Given the description of an element on the screen output the (x, y) to click on. 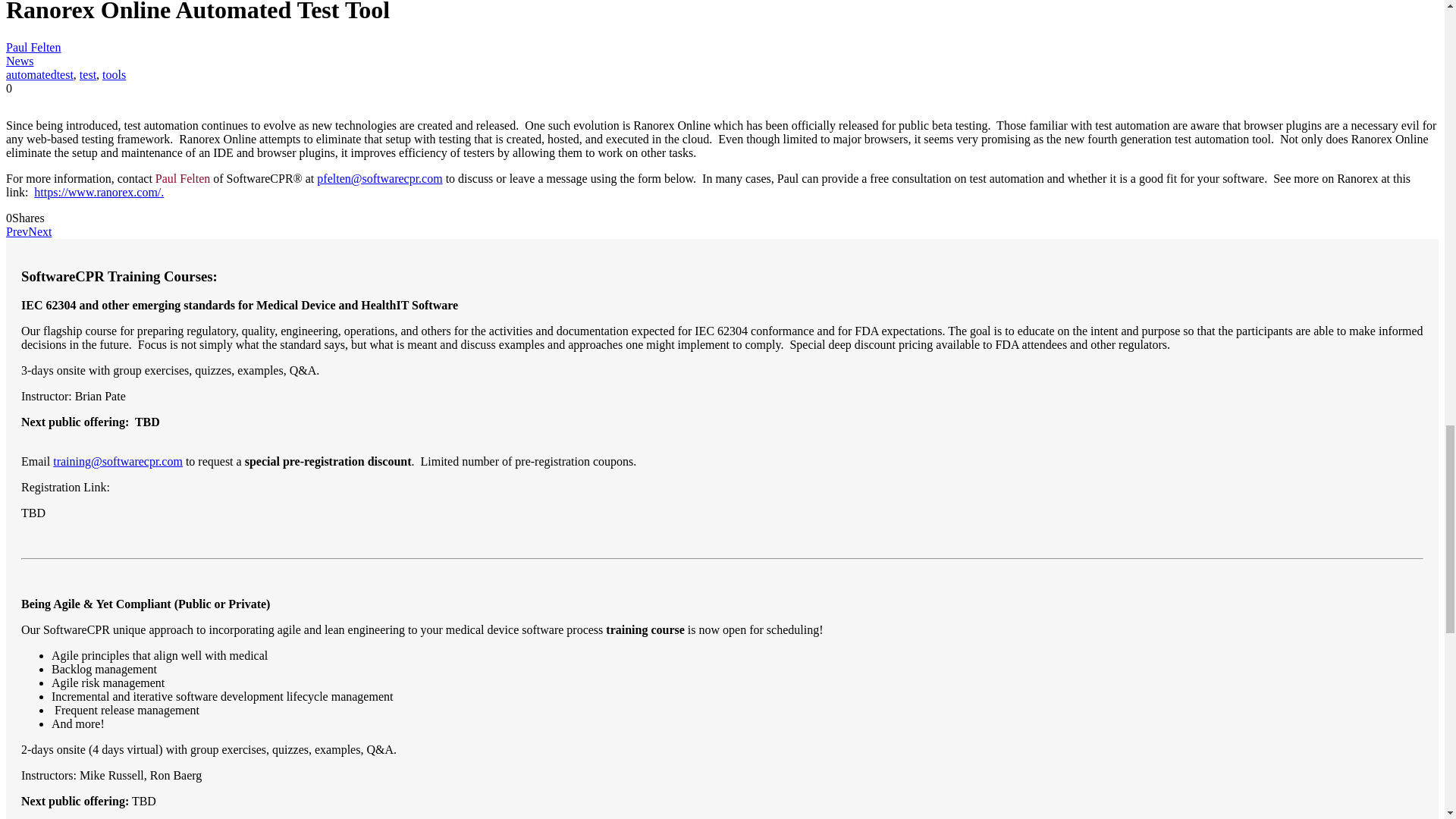
Posts by Paul Felten (33, 47)
